Given the description of an element on the screen output the (x, y) to click on. 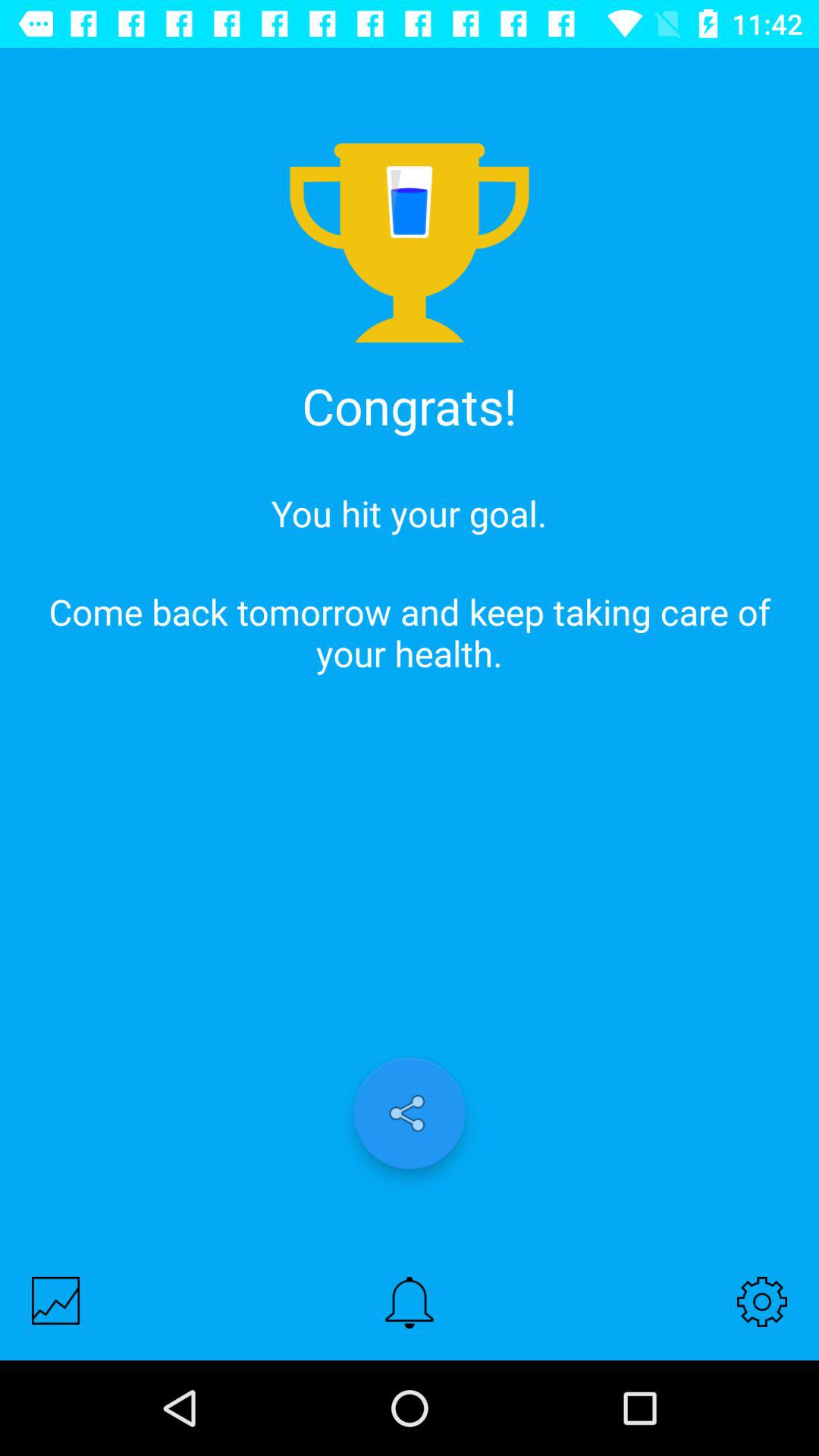
notification option (409, 1302)
